Given the description of an element on the screen output the (x, y) to click on. 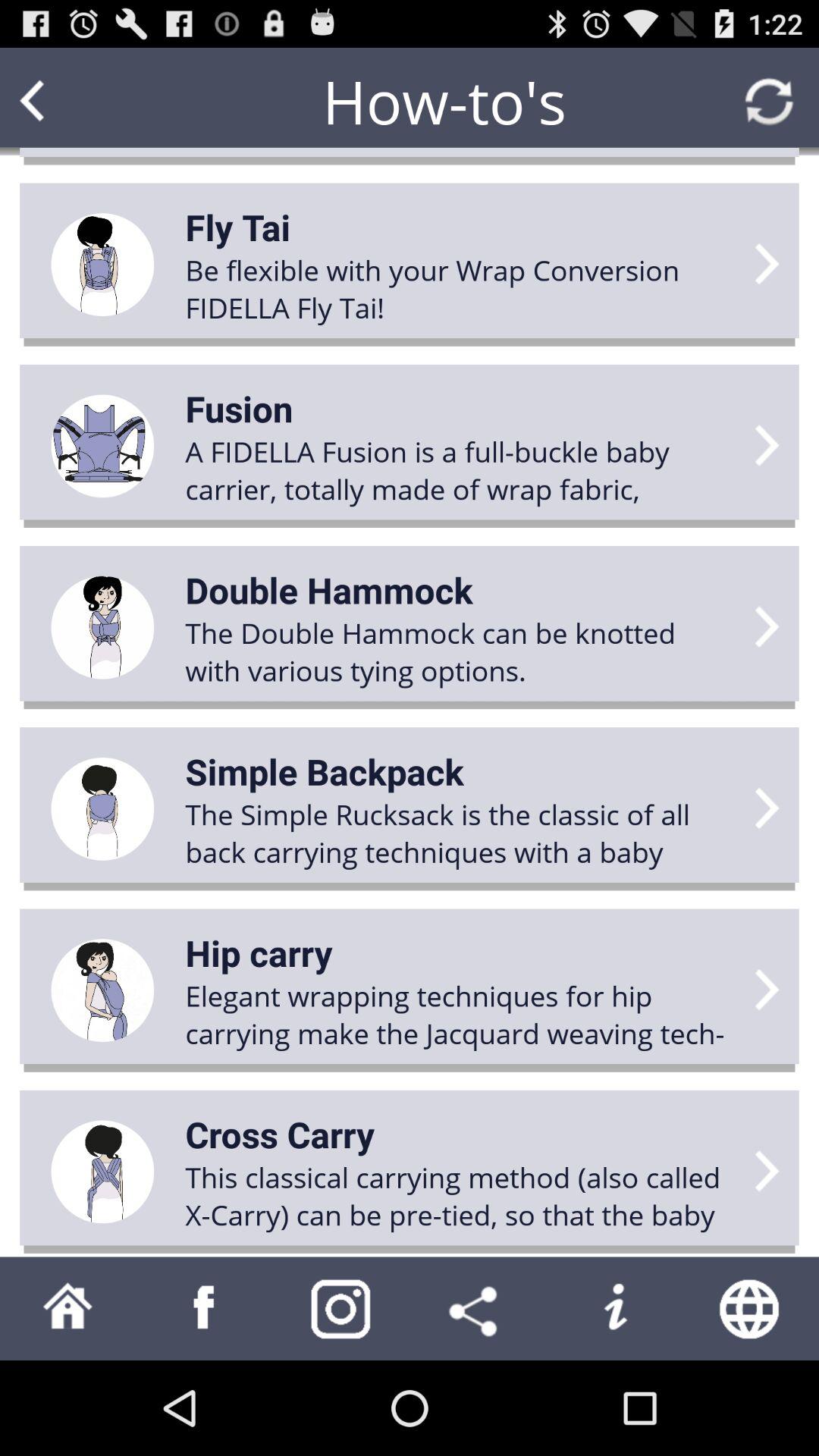
additional info (614, 1308)
